Given the description of an element on the screen output the (x, y) to click on. 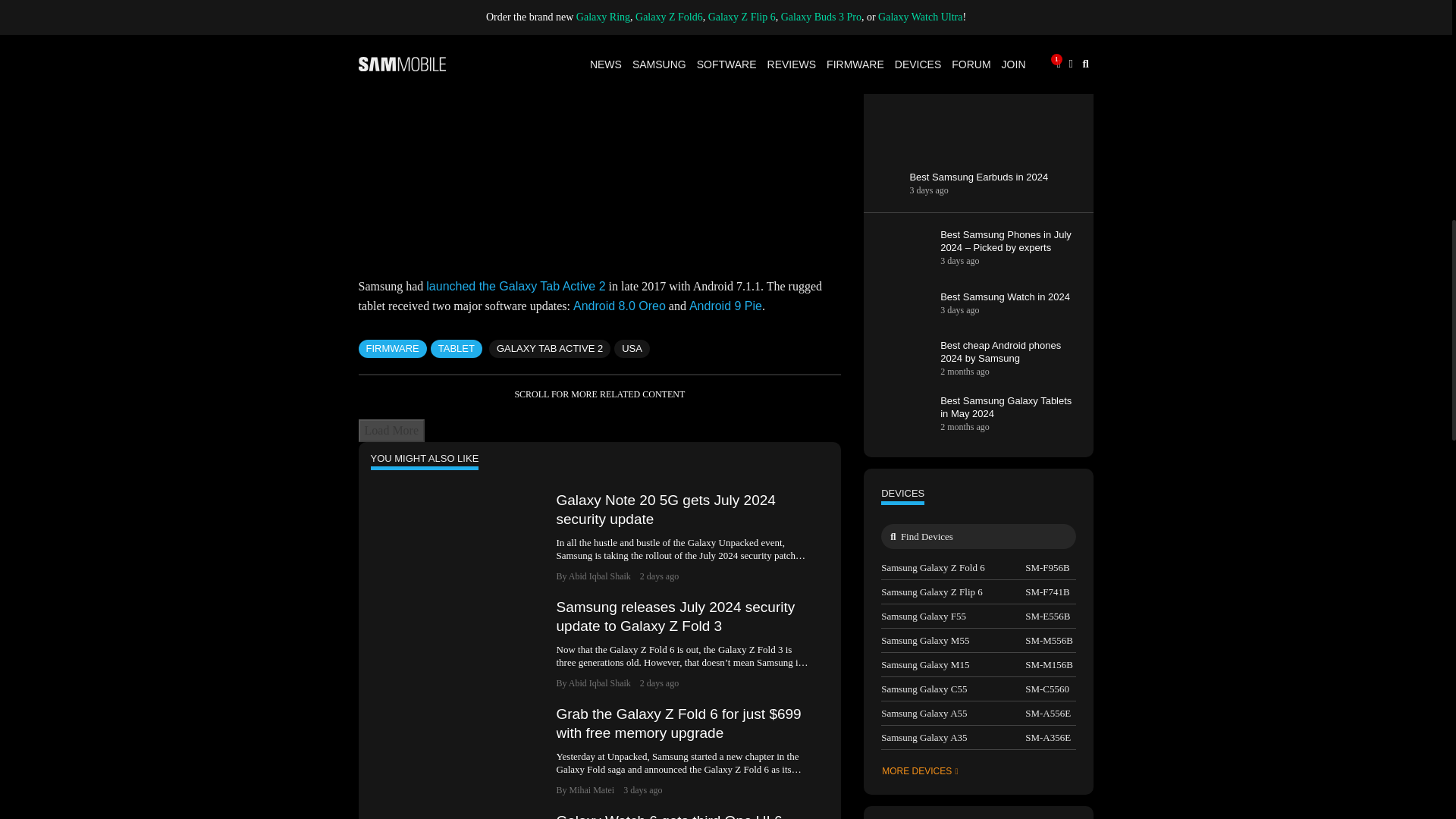
SCROLL FOR MORE RELATED CONTENT (599, 394)
